Given the description of an element on the screen output the (x, y) to click on. 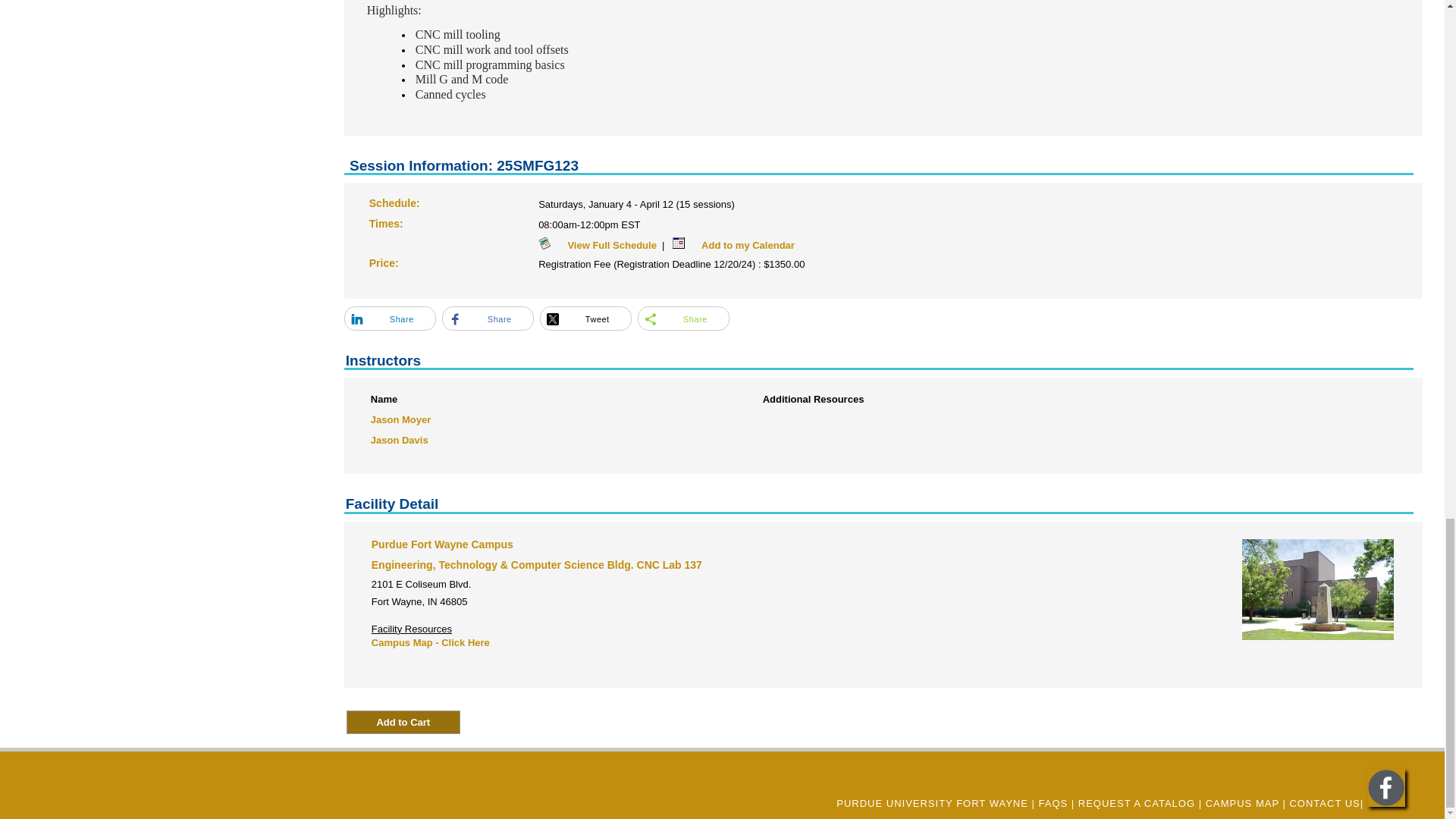
Jason Davis (399, 435)
Add to my Calendar (683, 245)
  View Full Schedule (597, 240)
Purdue Fort Wayne Continuing Studies (1386, 803)
Campus Map - Click Here (430, 638)
View Full Schedule (550, 245)
Add to Cart (403, 721)
  Add to my Calendar (733, 240)
Jason Moyer (400, 415)
